Given the description of an element on the screen output the (x, y) to click on. 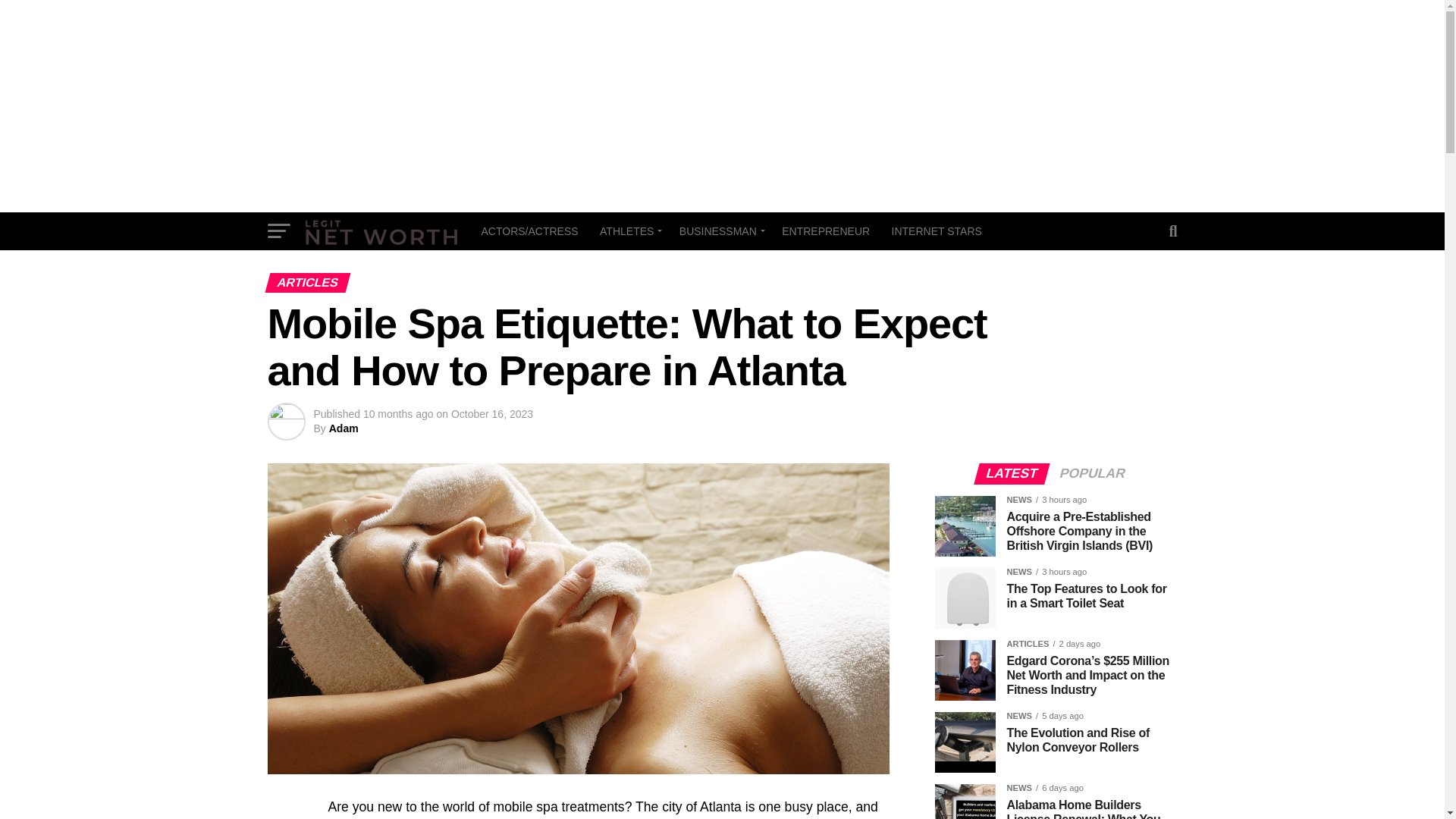
Posts by Adam (343, 428)
INTERNET STARS (936, 231)
ENTREPRENEUR (826, 231)
ATHLETES (628, 231)
BUSINESSMAN (719, 231)
